Given the description of an element on the screen output the (x, y) to click on. 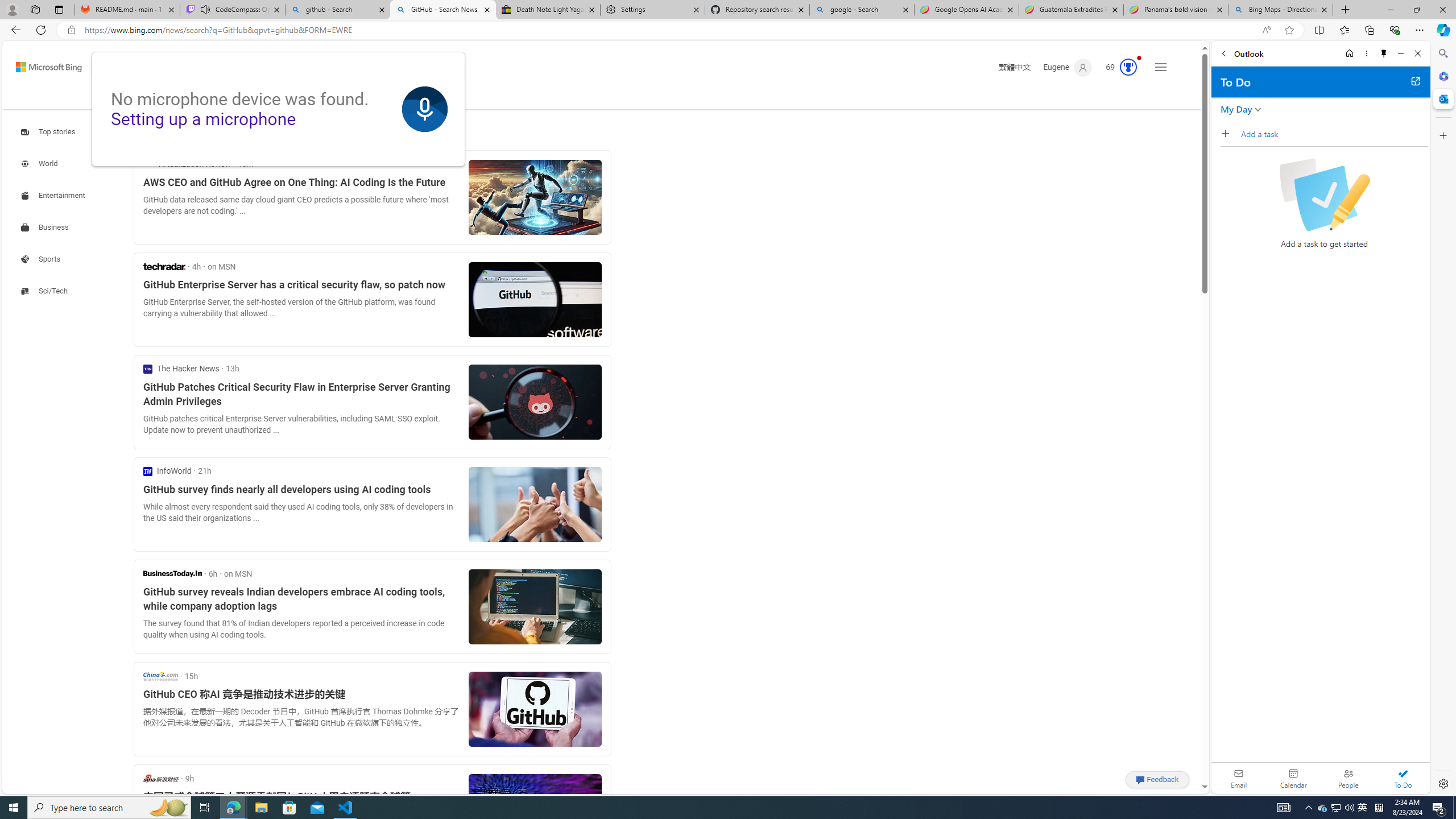
Animation (1139, 57)
Best match (227, 132)
New Tab (1346, 9)
NEWS (350, 96)
People (1347, 777)
Any time (163, 132)
Address and search bar (669, 29)
Microsoft Rewards 66 (1118, 67)
Business Today (172, 573)
NEWS (350, 96)
Settings and more (Alt+F) (1419, 29)
View site information (70, 29)
